Given the description of an element on the screen output the (x, y) to click on. 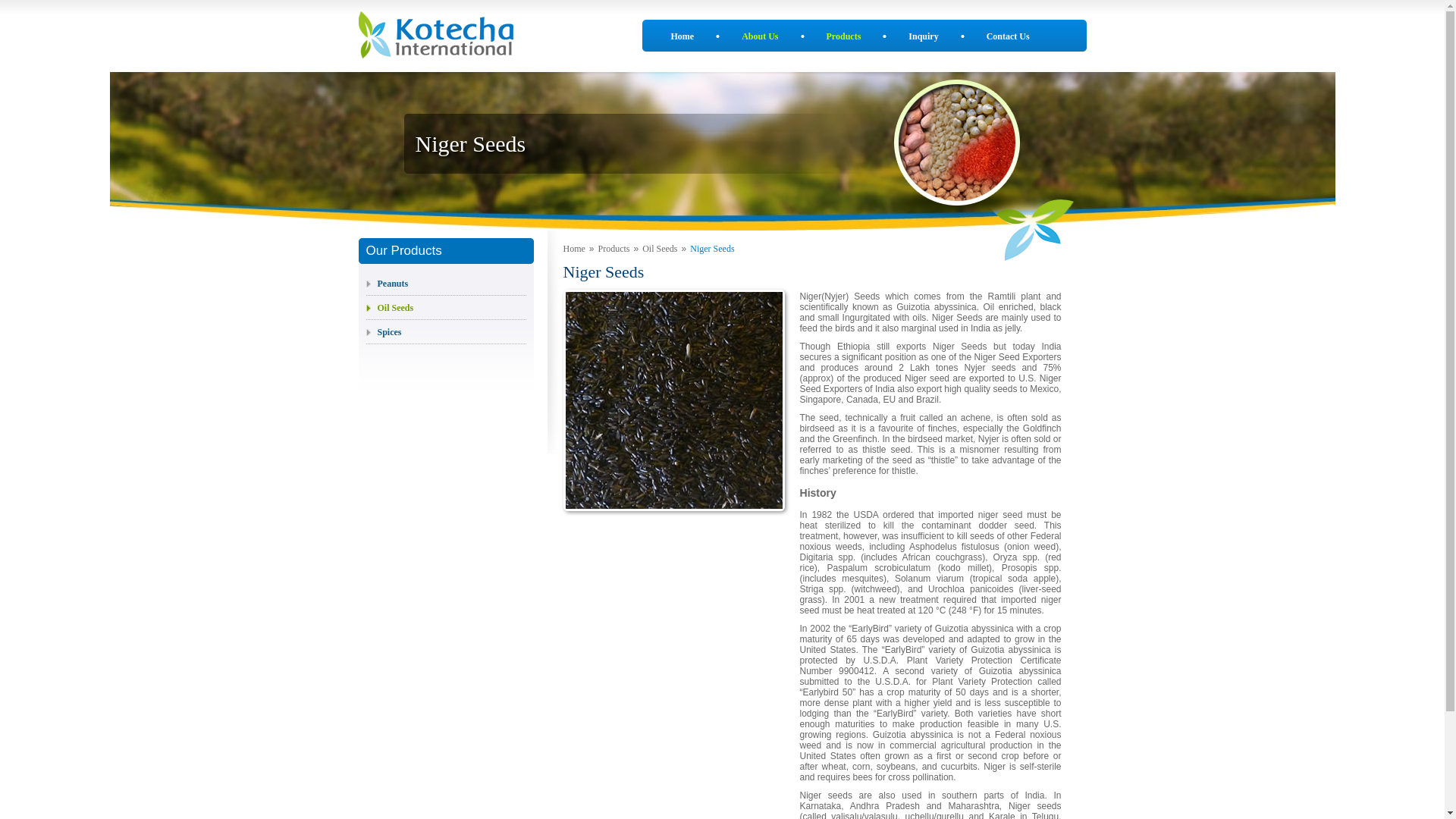
Kotecha International (435, 34)
Oil Seeds (389, 307)
Home (681, 36)
About Us (759, 36)
Products (614, 248)
Niger Seeds (711, 248)
Products (844, 36)
Peanuts (386, 283)
Home (573, 248)
Spices (383, 331)
Contact Us (1008, 36)
Oil Seeds (659, 248)
Inquiry (922, 36)
